Given the description of an element on the screen output the (x, y) to click on. 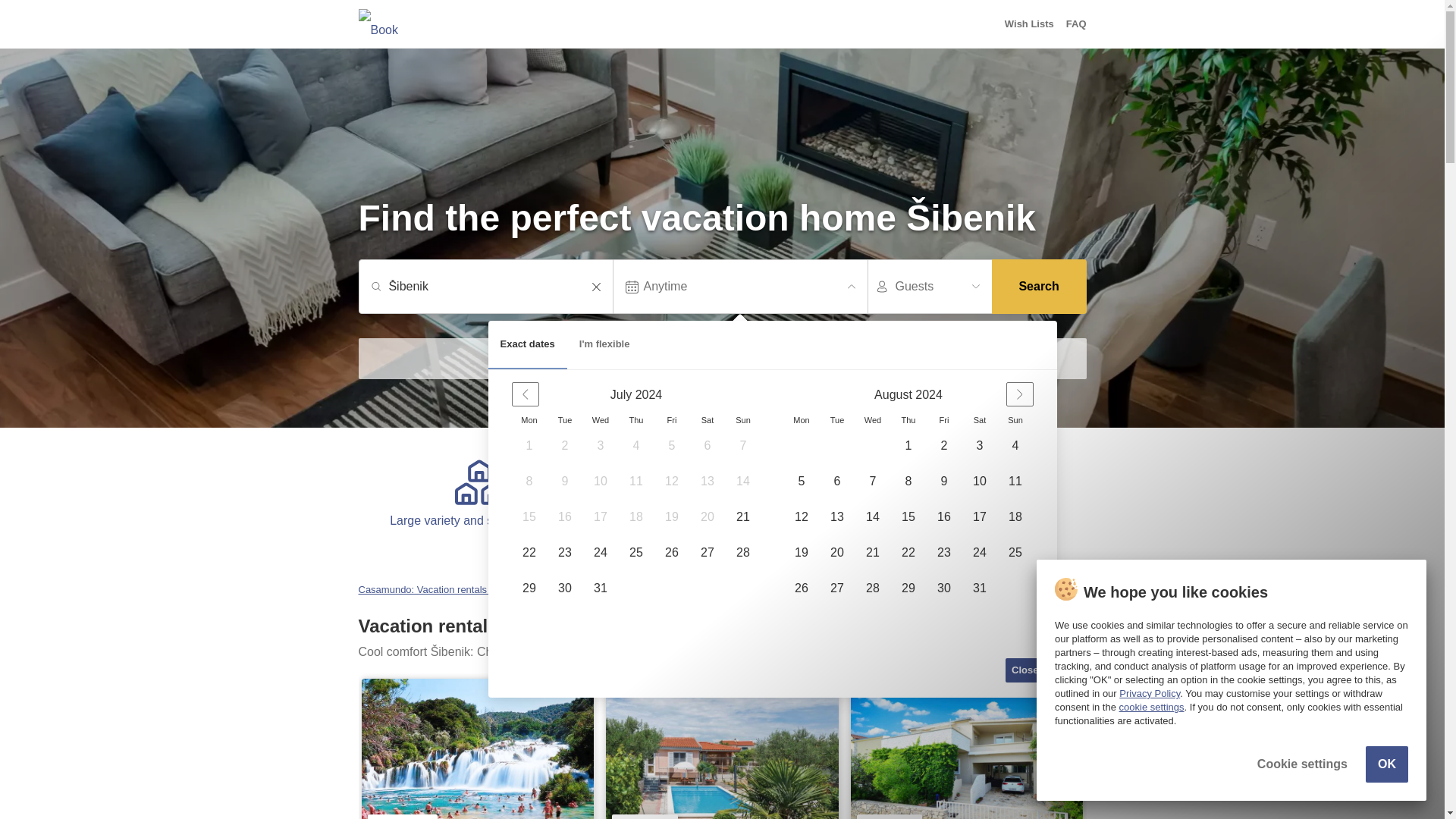
Tue (836, 420)
Croatia (516, 589)
Northern Dalmatia (584, 589)
Sun (1015, 420)
Book holiday homes and apartments - Casamundo (392, 24)
Search (1038, 286)
Fri (944, 420)
Fri (671, 420)
Mon (801, 420)
Thu (635, 420)
Close (1024, 670)
cookie settings (1152, 706)
Privacy Policy (1149, 693)
Sun (743, 420)
Casamundo: Vacation rentals (423, 589)
